Given the description of an element on the screen output the (x, y) to click on. 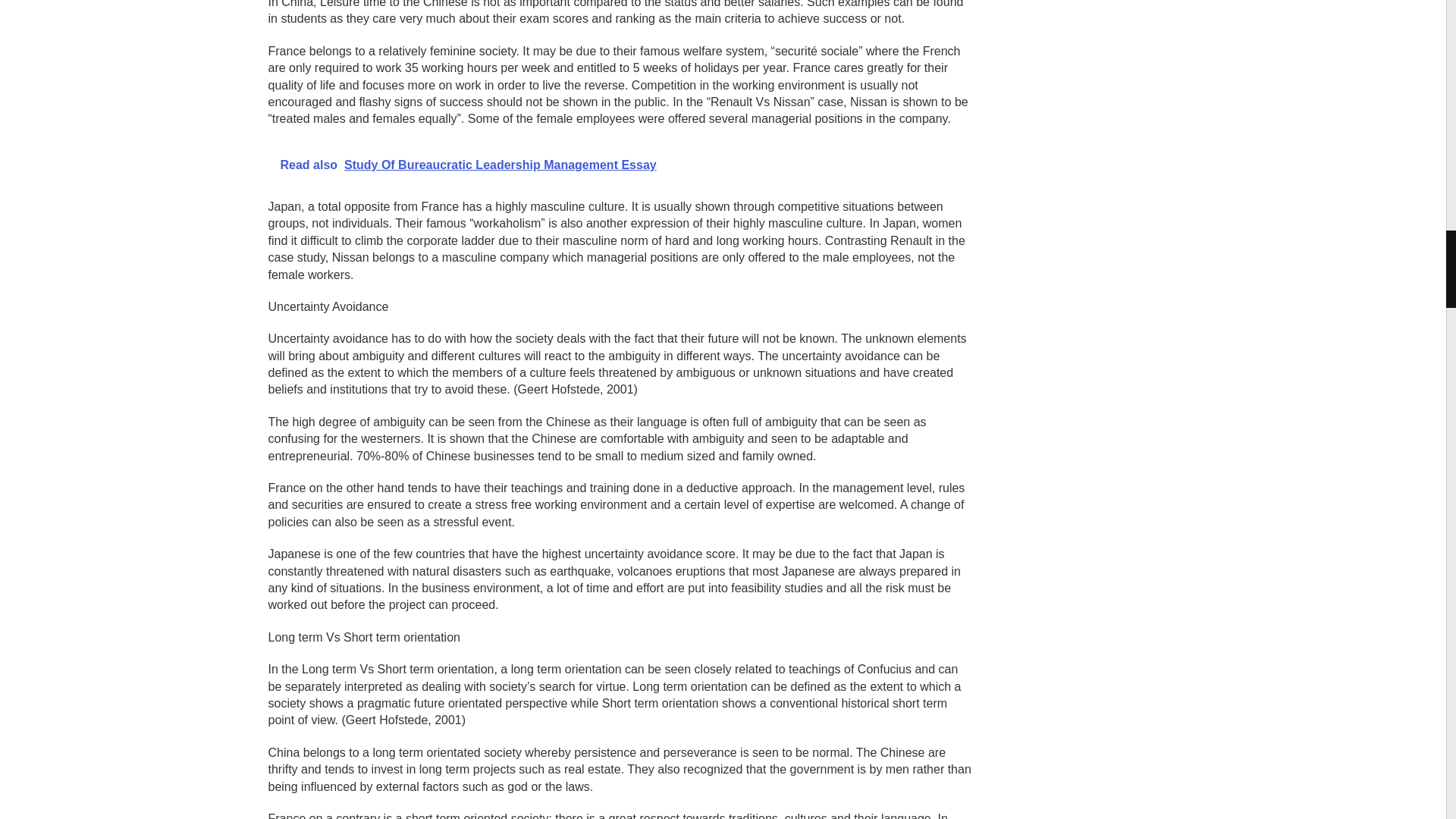
Read also  Study Of Bureaucratic Leadership Management Essay (620, 164)
